Given the description of an element on the screen output the (x, y) to click on. 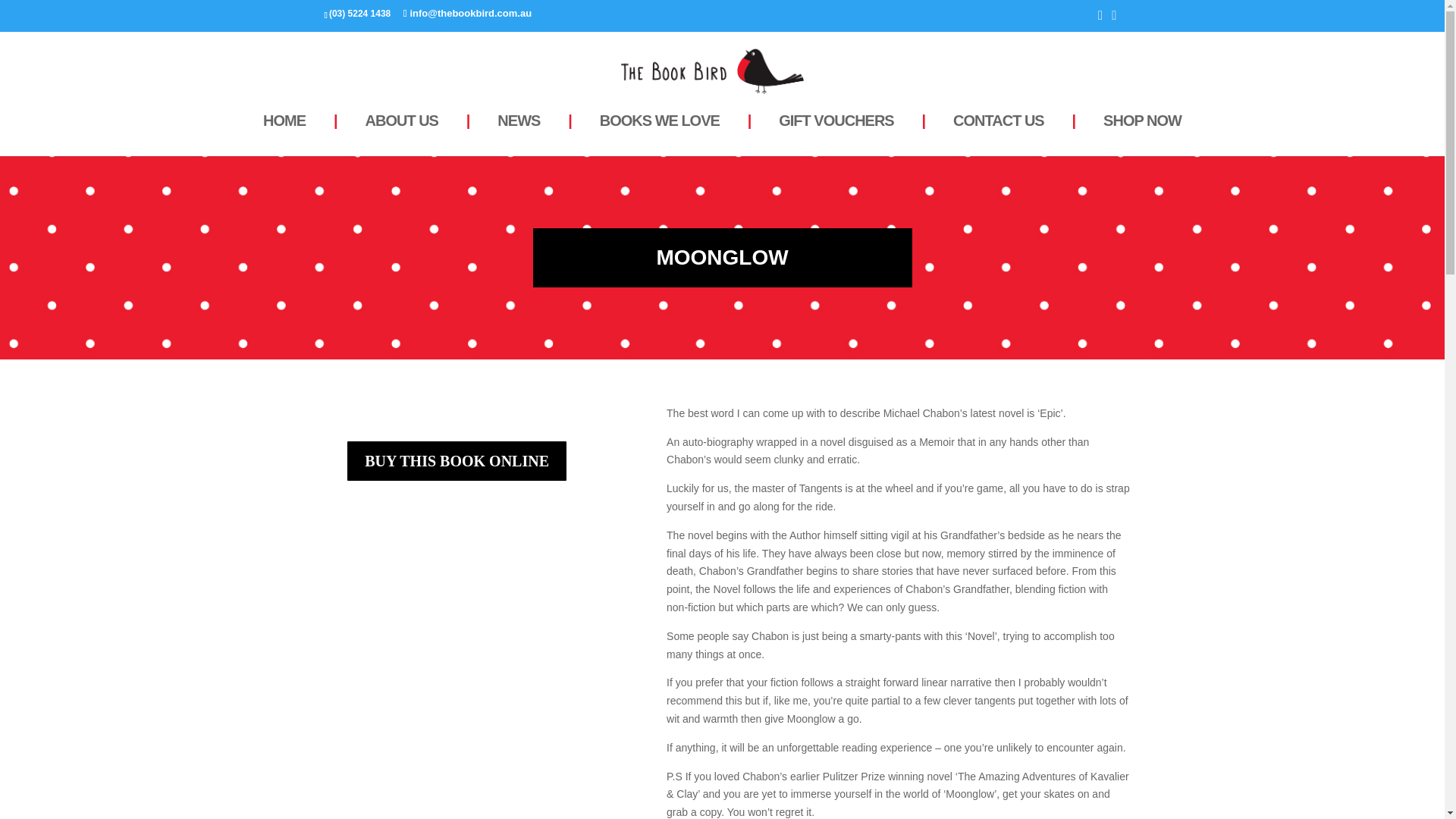
GIFT VOUCHERS (835, 131)
NEWS (518, 131)
ABOUT US (400, 131)
HOME (284, 131)
BUY THIS BOOK ONLINE (456, 460)
SHOP NOW (1142, 131)
CONTACT US (998, 131)
BOOKS WE LOVE (659, 131)
